Given the description of an element on the screen output the (x, y) to click on. 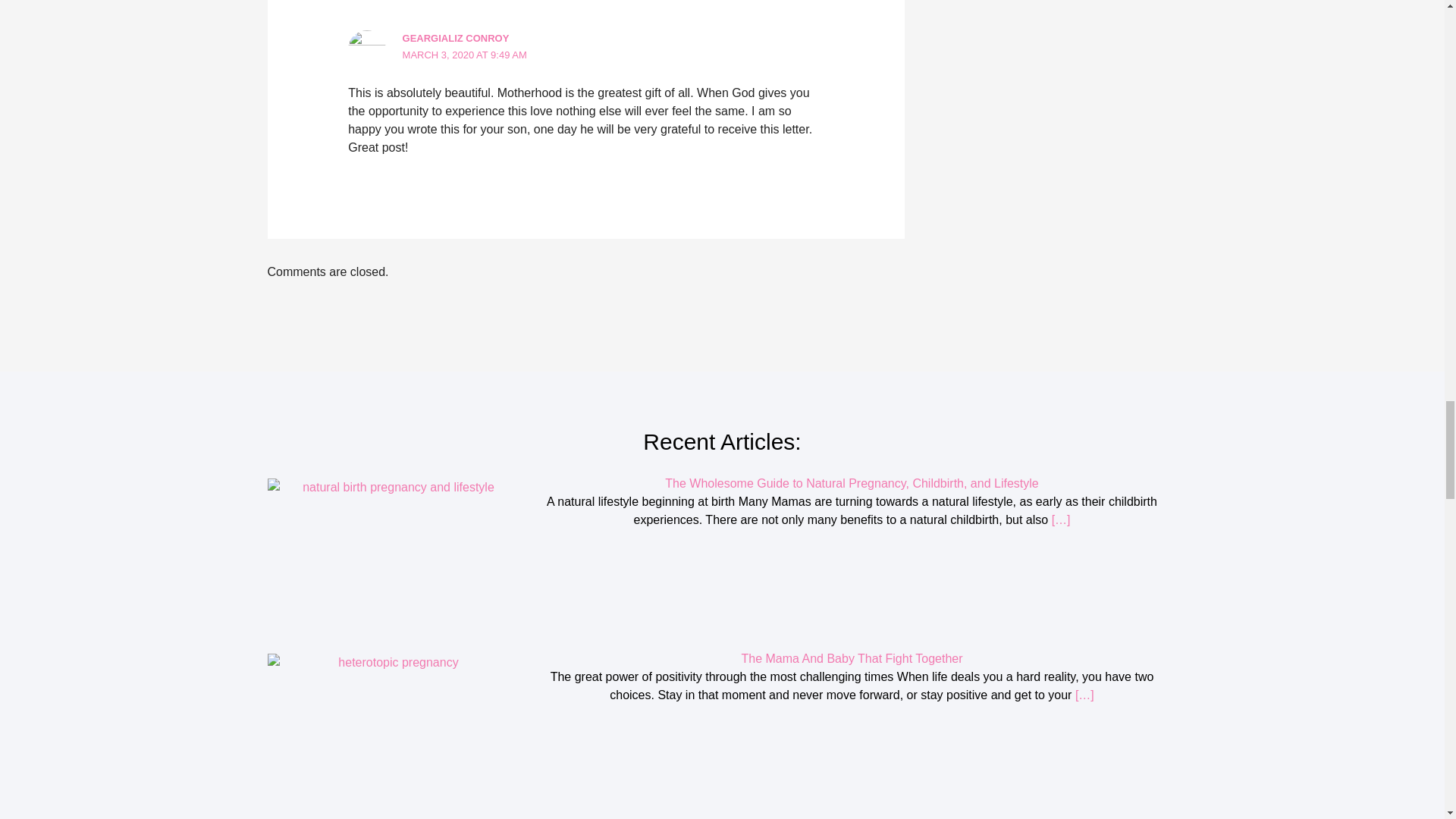
MARCH 3, 2020 AT 9:49 AM (465, 54)
The Mama And Baby That Fight Together (851, 658)
